Given the description of an element on the screen output the (x, y) to click on. 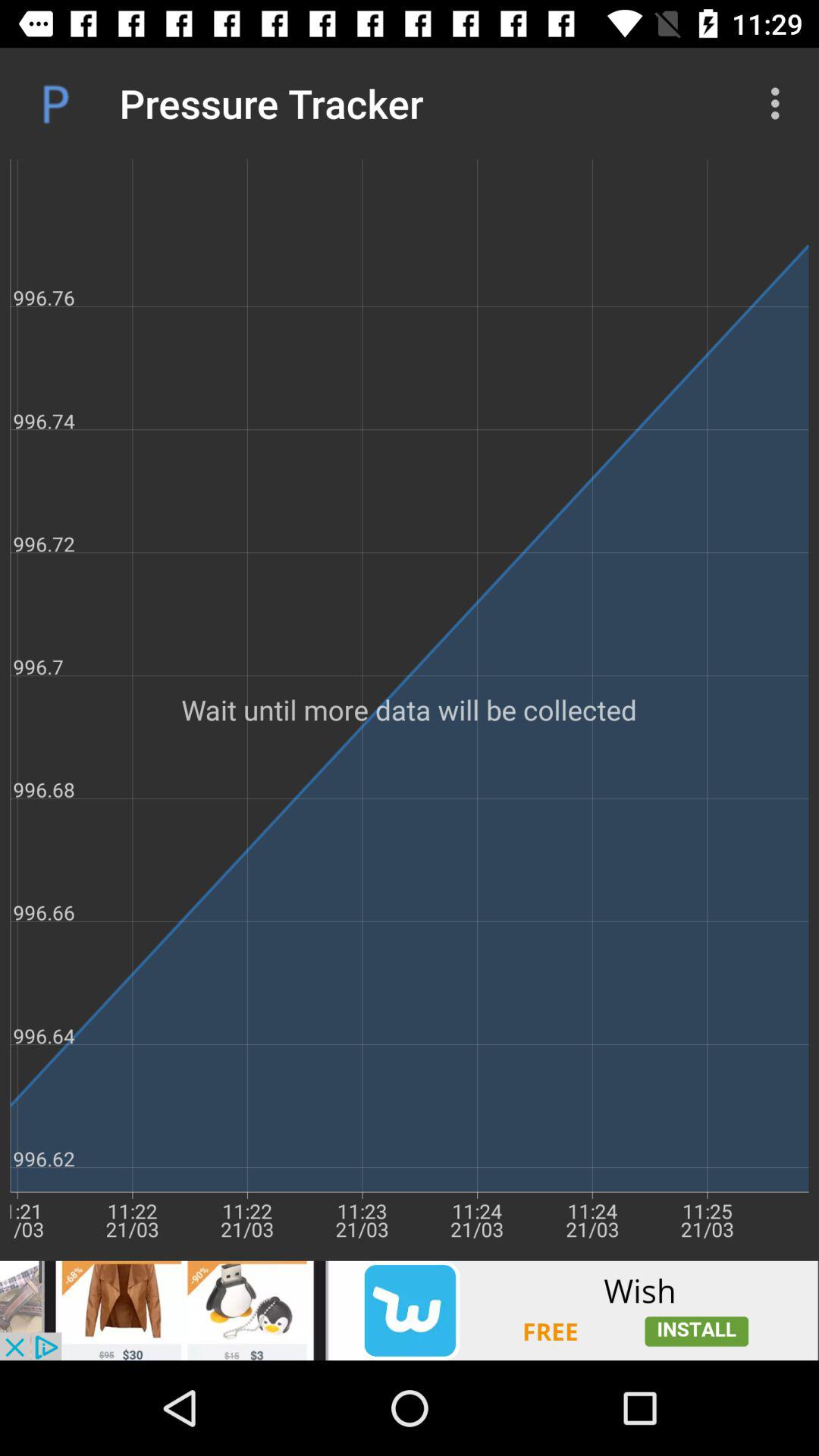
select advertisement (409, 1310)
